Given the description of an element on the screen output the (x, y) to click on. 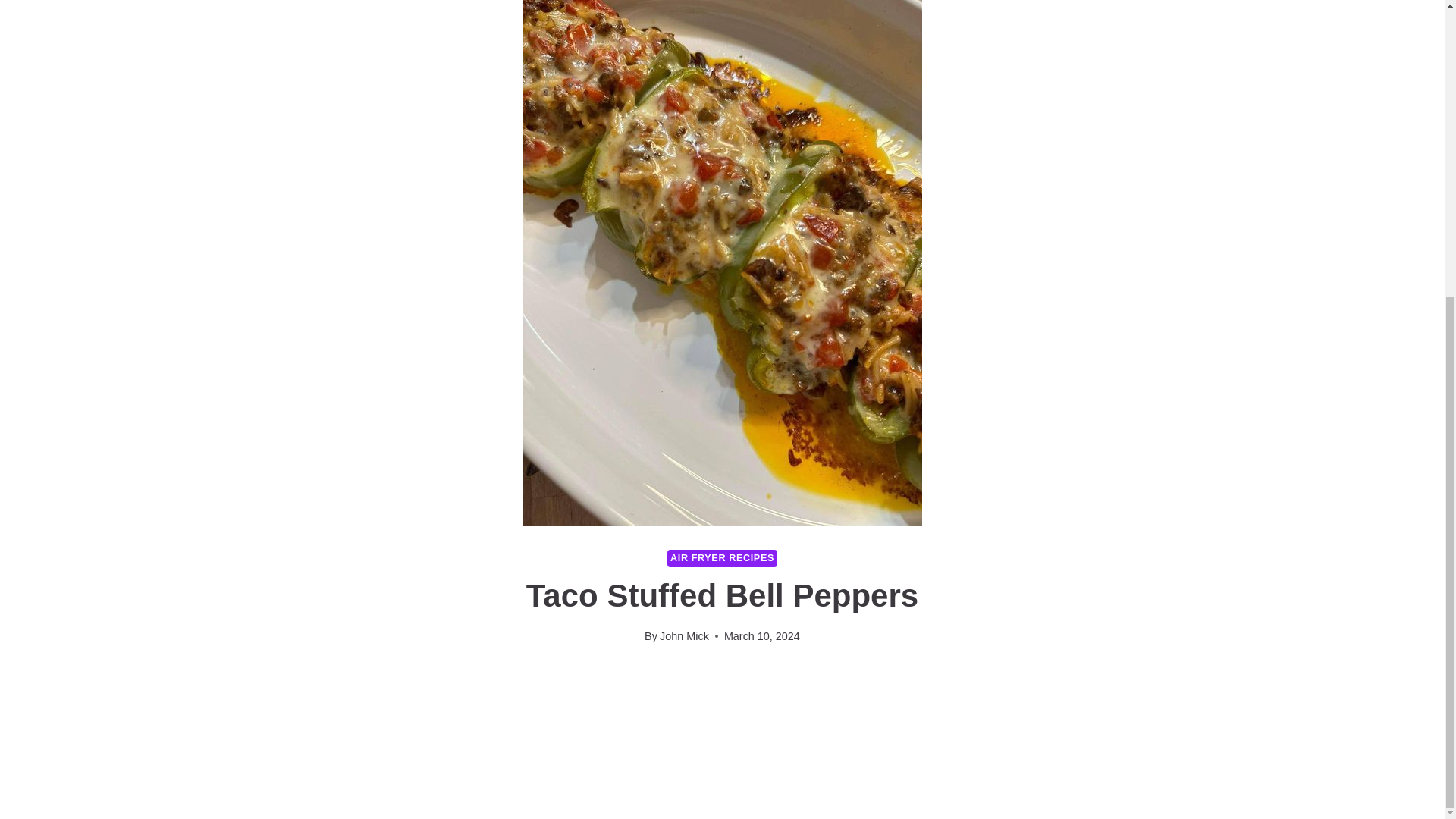
AIR FRYER RECIPES (721, 558)
John Mick (684, 635)
